Given the description of an element on the screen output the (x, y) to click on. 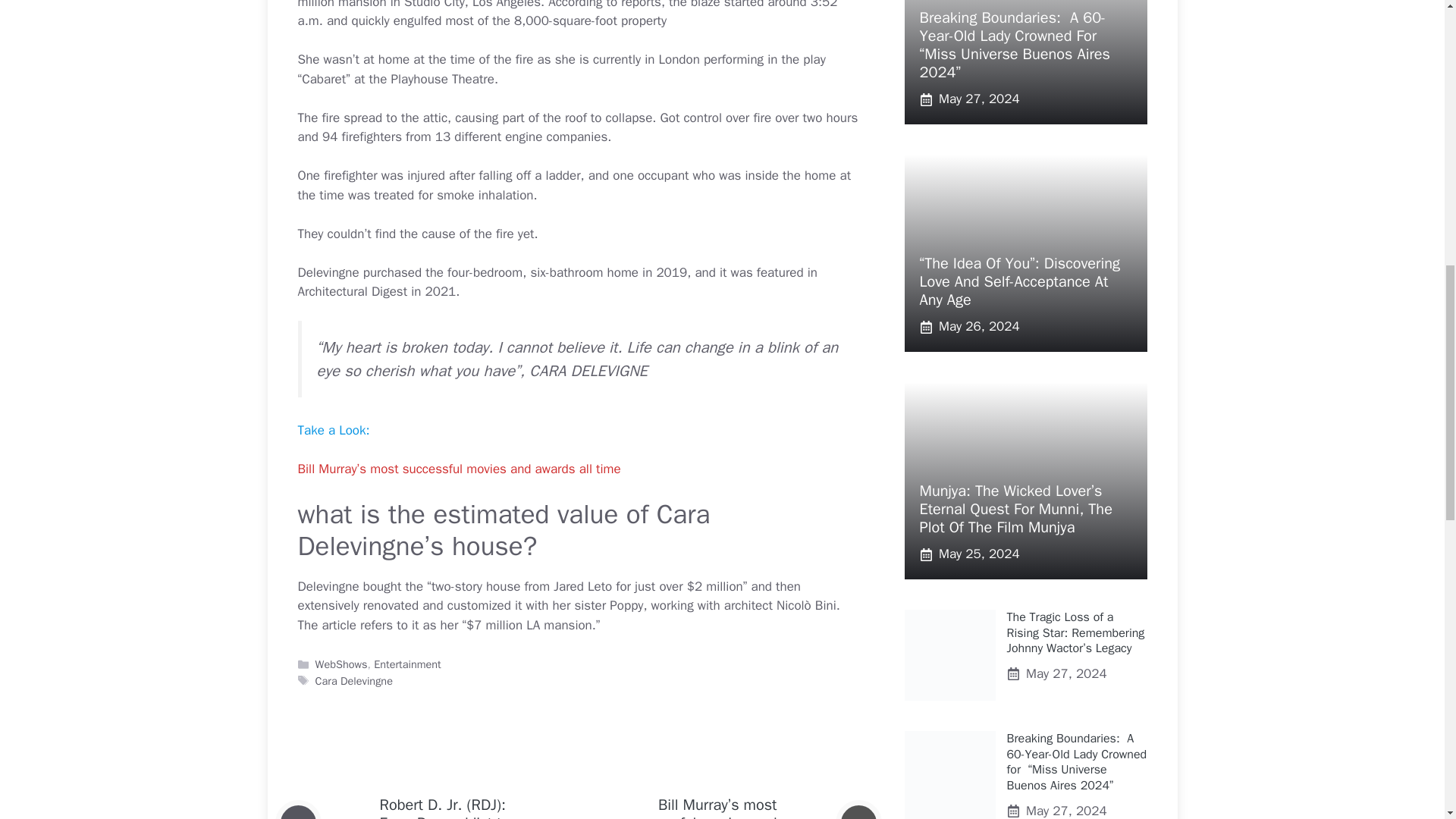
Entertainment (407, 663)
WebShows (341, 663)
Cara Delevingne (354, 680)
Scroll back to top (1406, 720)
